Given the description of an element on the screen output the (x, y) to click on. 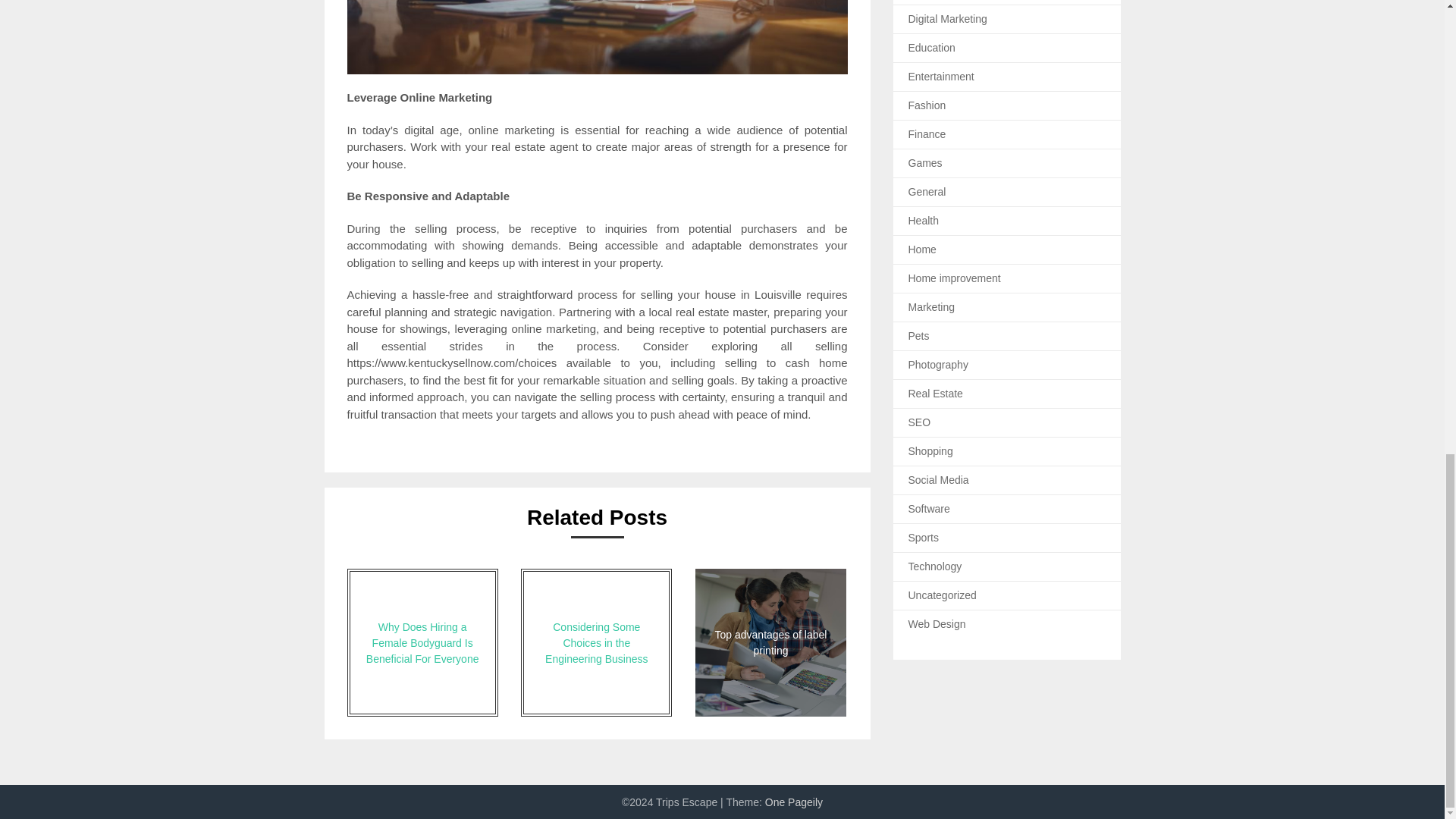
Finance (927, 133)
Considering Some Choices in the Engineering Business (596, 642)
Home (922, 249)
Home improvement (954, 277)
Social Media (938, 480)
Pets (919, 336)
Marketing (931, 306)
Considering Some Choices in the Engineering Business (596, 642)
Fashion (927, 105)
Games (925, 162)
